Given the description of an element on the screen output the (x, y) to click on. 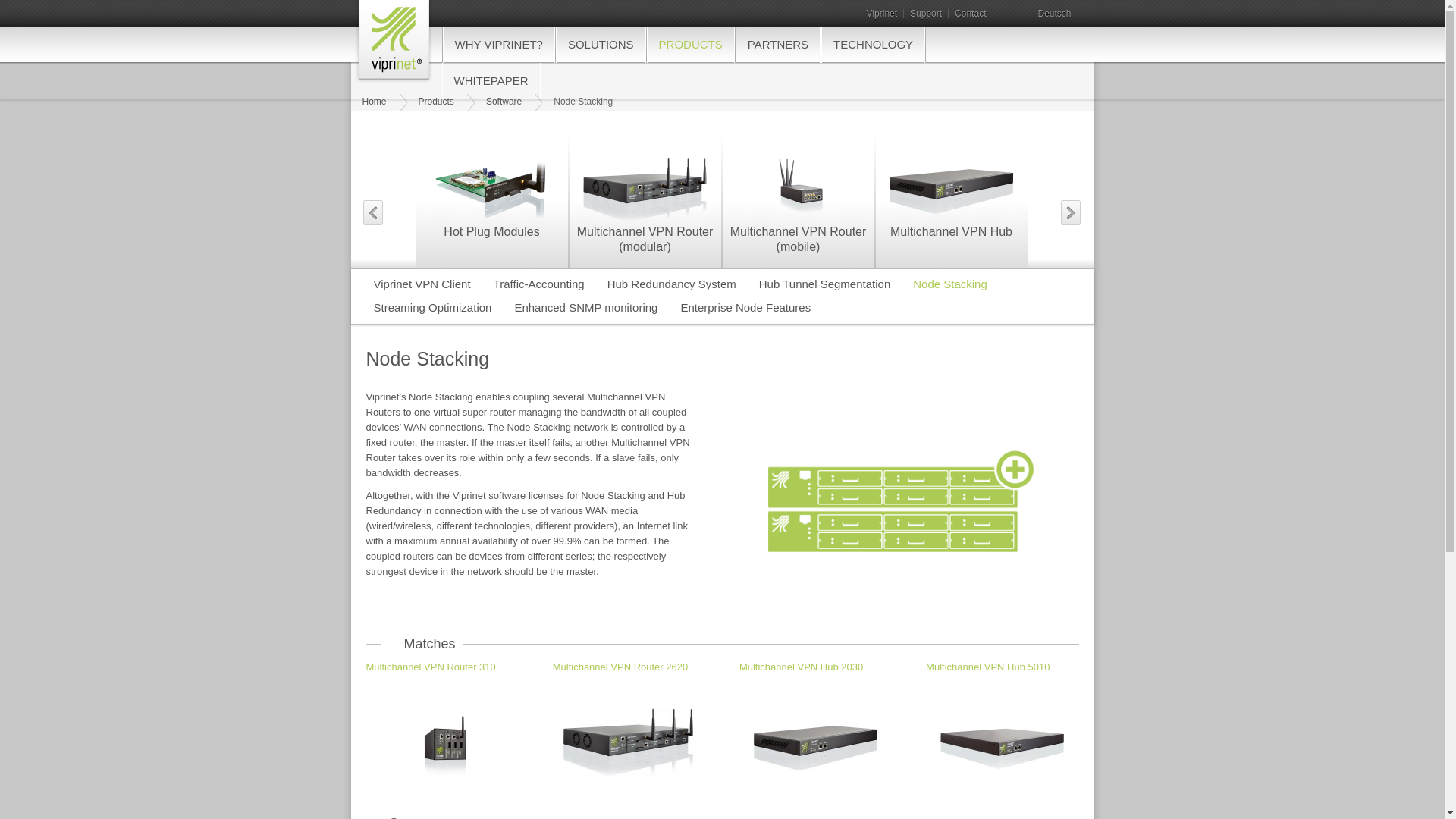
Node Stacking (1053, 13)
Home (391, 38)
Deutsch (1053, 13)
